Given the description of an element on the screen output the (x, y) to click on. 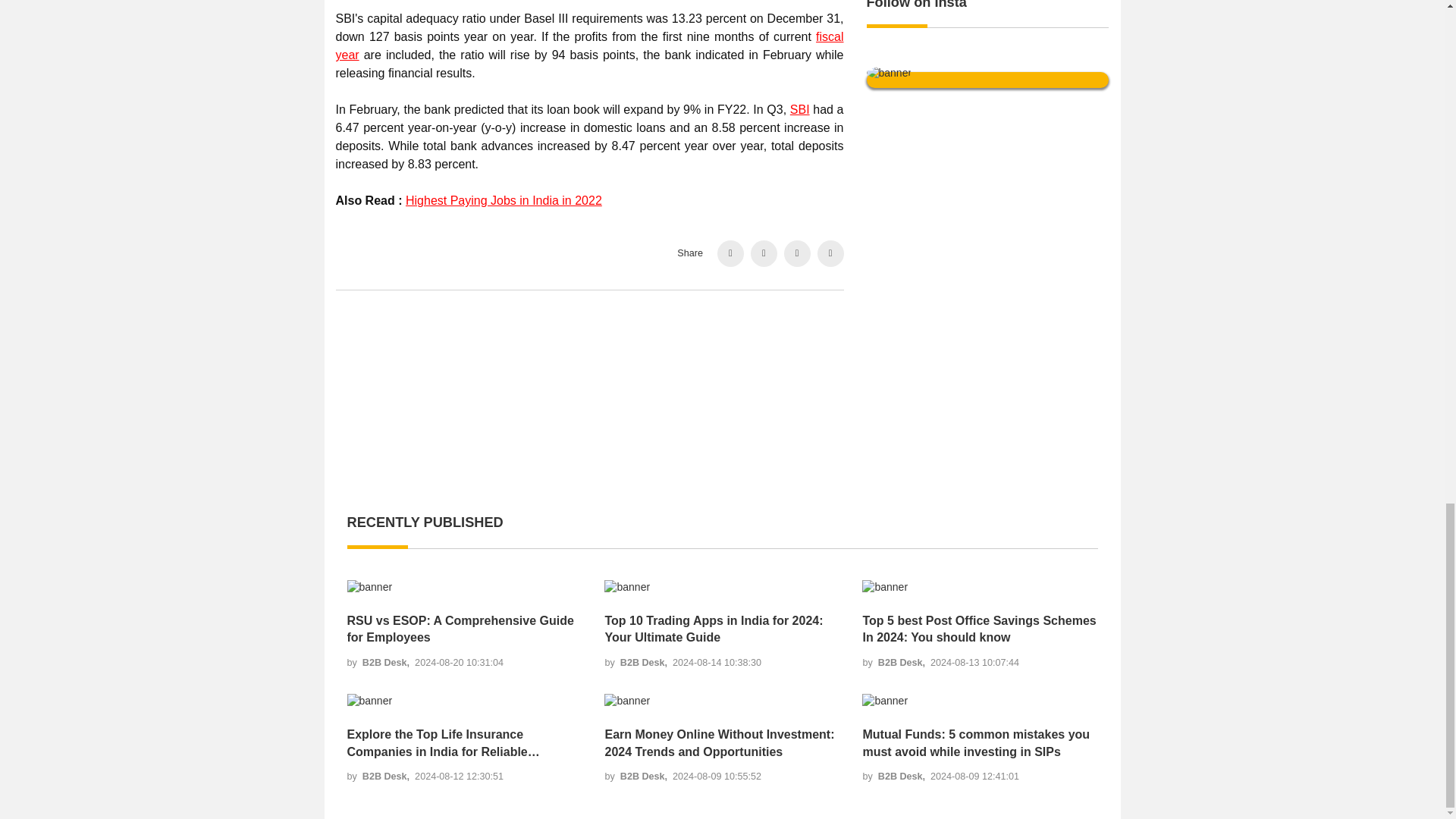
SBI (799, 109)
Highest Paying Jobs in India in 2022 (504, 200)
fiscal year (588, 45)
